Given the description of an element on the screen output the (x, y) to click on. 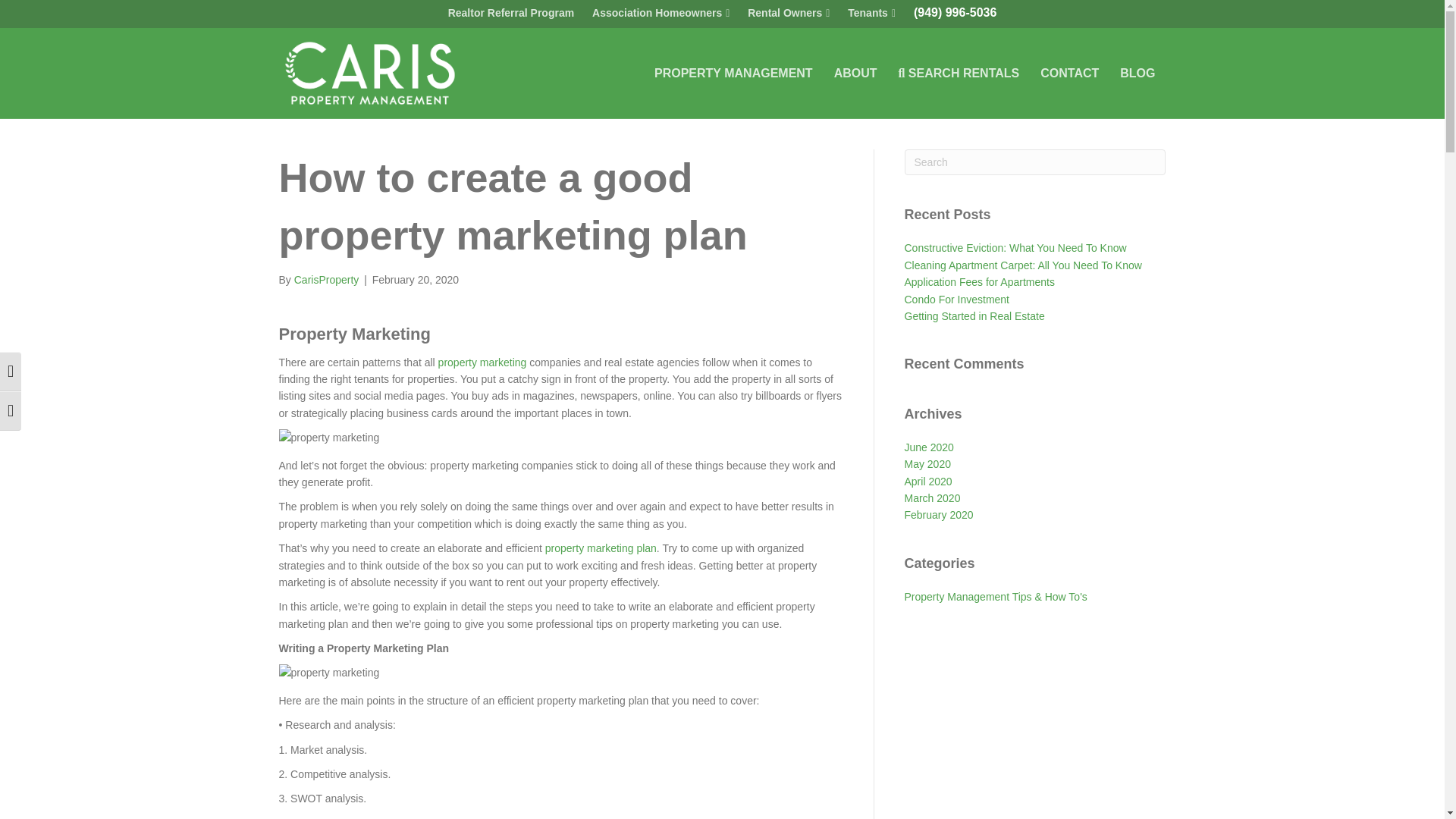
PROPERTY MANAGEMENT (733, 73)
property marketing plan (600, 548)
ABOUT (856, 73)
property marketing (482, 362)
Type and press Enter to search. (1035, 162)
BLOG (1137, 73)
Realtor Referral Program (511, 13)
Tenants (871, 13)
CONTACT (1069, 73)
CarisProperty (326, 279)
Association Homeowners (660, 13)
Rental Owners (788, 13)
SEARCH RENTALS (959, 73)
